Given the description of an element on the screen output the (x, y) to click on. 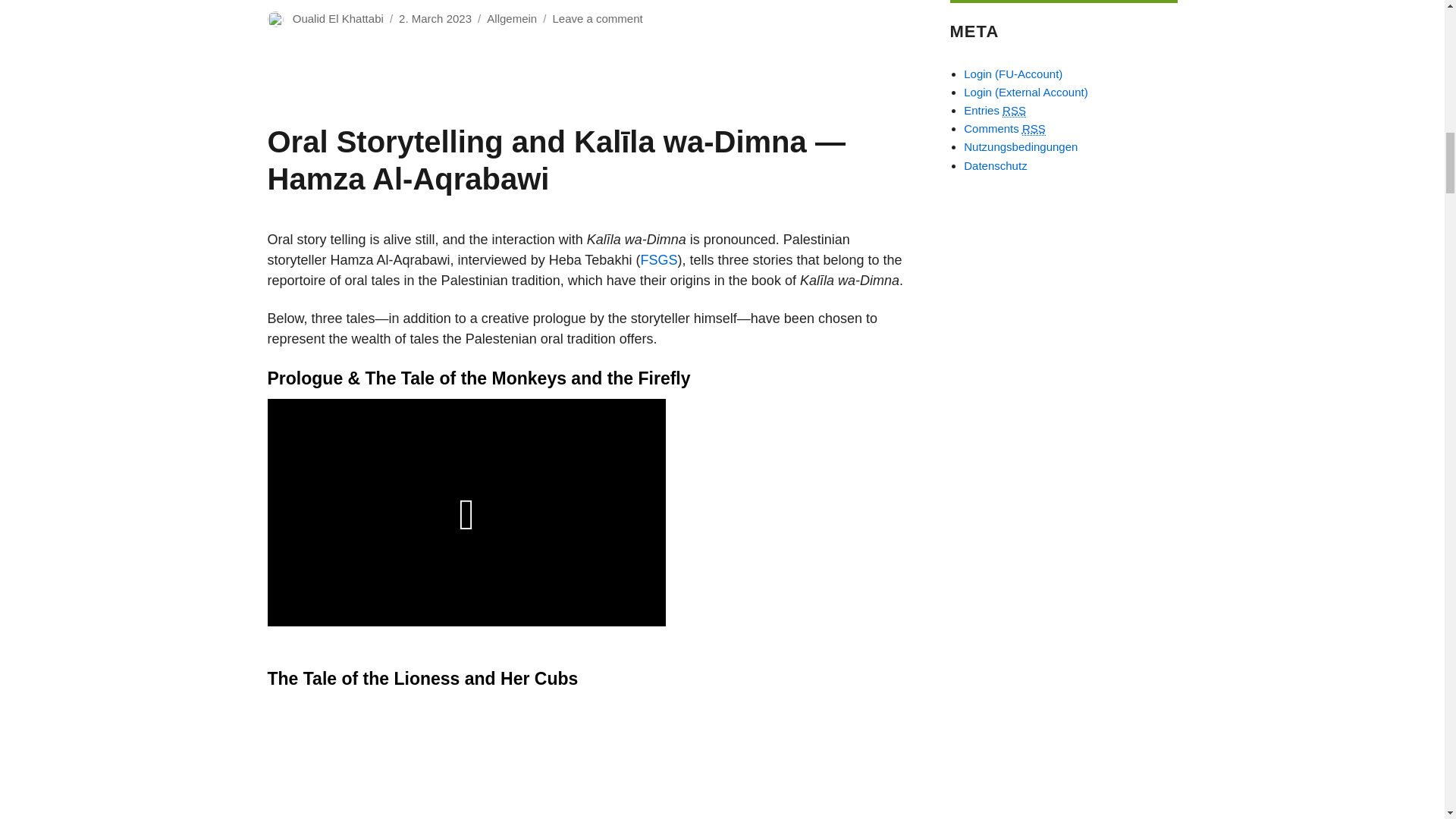
Oualid El Khattabi (338, 18)
Syndicate this site using RSS 2.0 (994, 110)
Really Simple Syndication (1014, 110)
2. March 2023 (434, 18)
FSGS (658, 259)
Allgemein (511, 18)
Really Simple Syndication (1033, 128)
The latest comments to all posts in RSS (1004, 128)
